Given the description of an element on the screen output the (x, y) to click on. 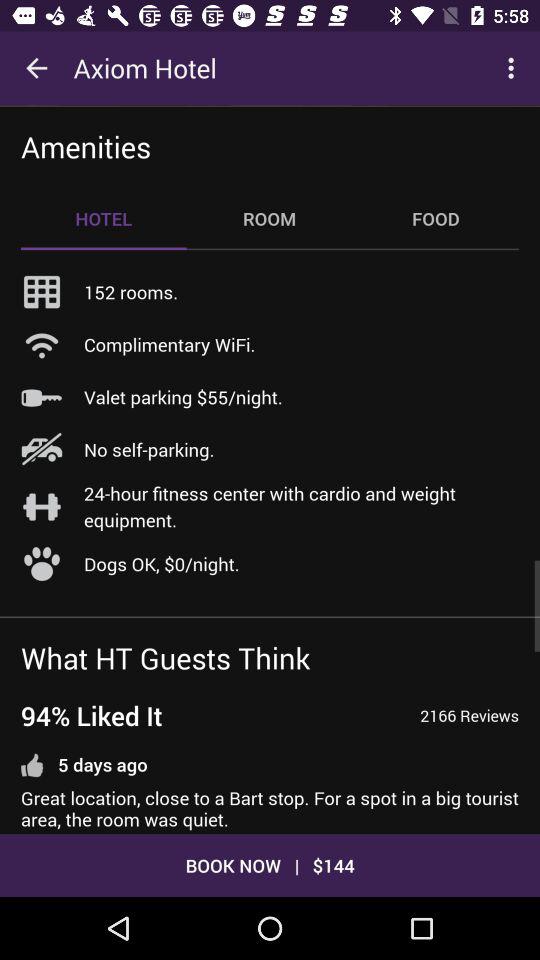
scroll until amenities item (86, 146)
